Given the description of an element on the screen output the (x, y) to click on. 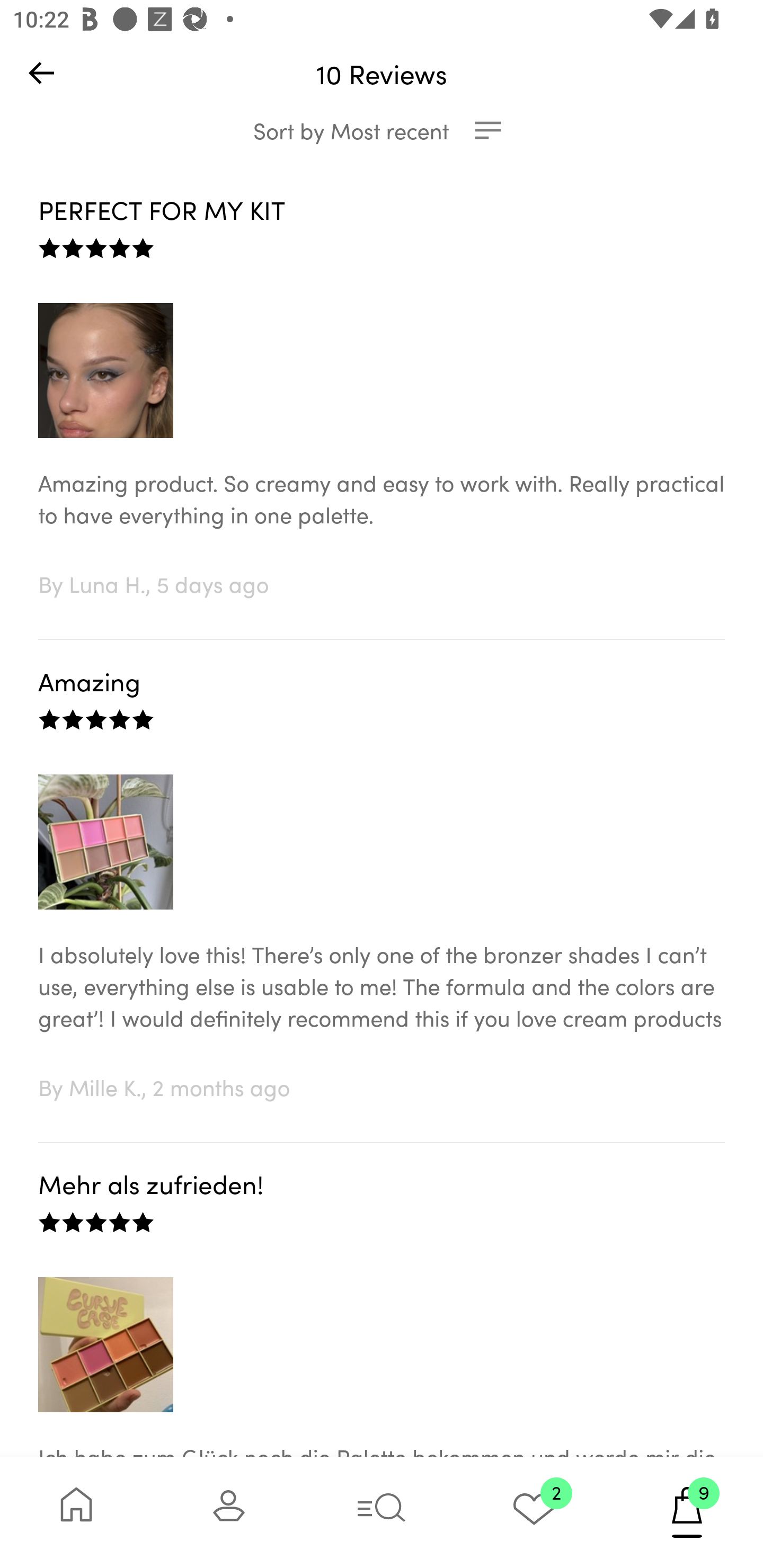
Sort by Most recent (381, 130)
2 (533, 1512)
9 (686, 1512)
